Given the description of an element on the screen output the (x, y) to click on. 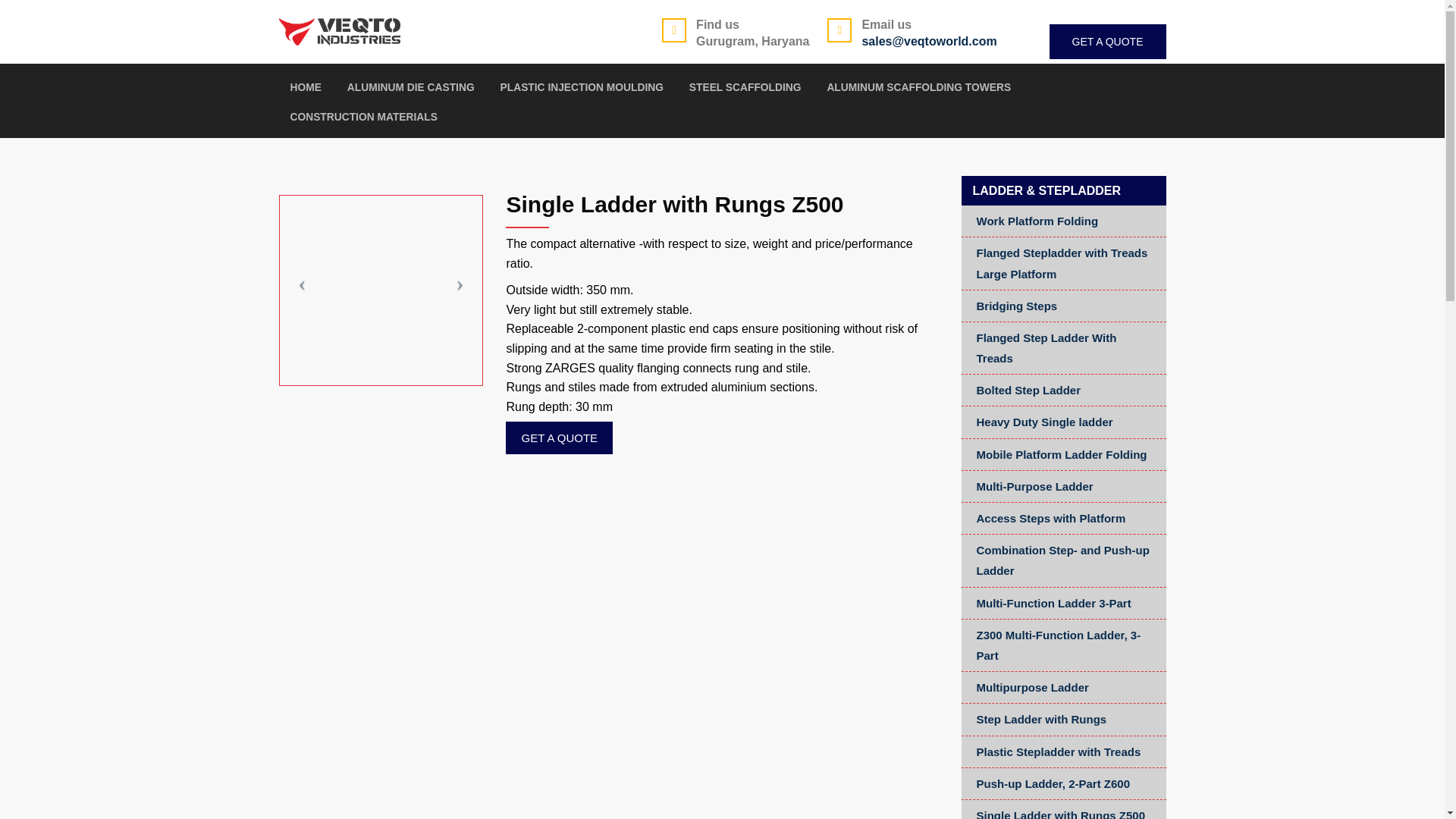
CONSTRUCTION MATERIALS (362, 125)
ALUMINUM DIE CASTING (410, 95)
PLASTIC INJECTION MOULDING (581, 95)
ALUMINUM SCAFFOLDING TOWERS (918, 95)
STEEL SCAFFOLDING (745, 95)
HOME (304, 95)
GET A QUOTE (1107, 41)
